Given the description of an element on the screen output the (x, y) to click on. 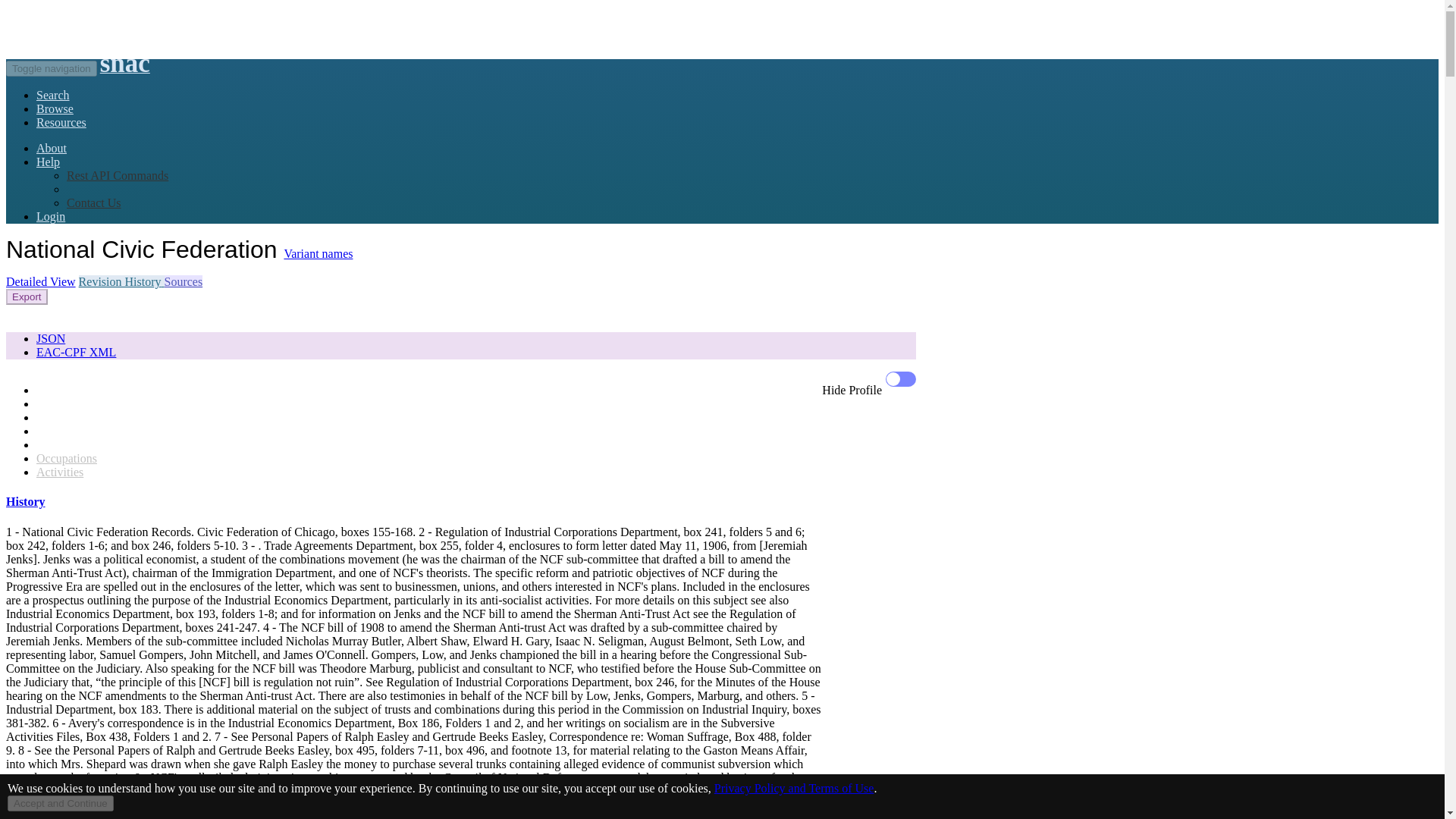
Detailed View (40, 281)
Search (52, 94)
Resources (60, 122)
Toggle navigation (51, 68)
About (51, 147)
History (25, 501)
Sources (182, 281)
Variant names (317, 253)
Occupations (66, 458)
Export (26, 296)
Browse (55, 108)
JSON (50, 338)
Contact Us (93, 202)
snac (124, 67)
Help (47, 161)
